Given the description of an element on the screen output the (x, y) to click on. 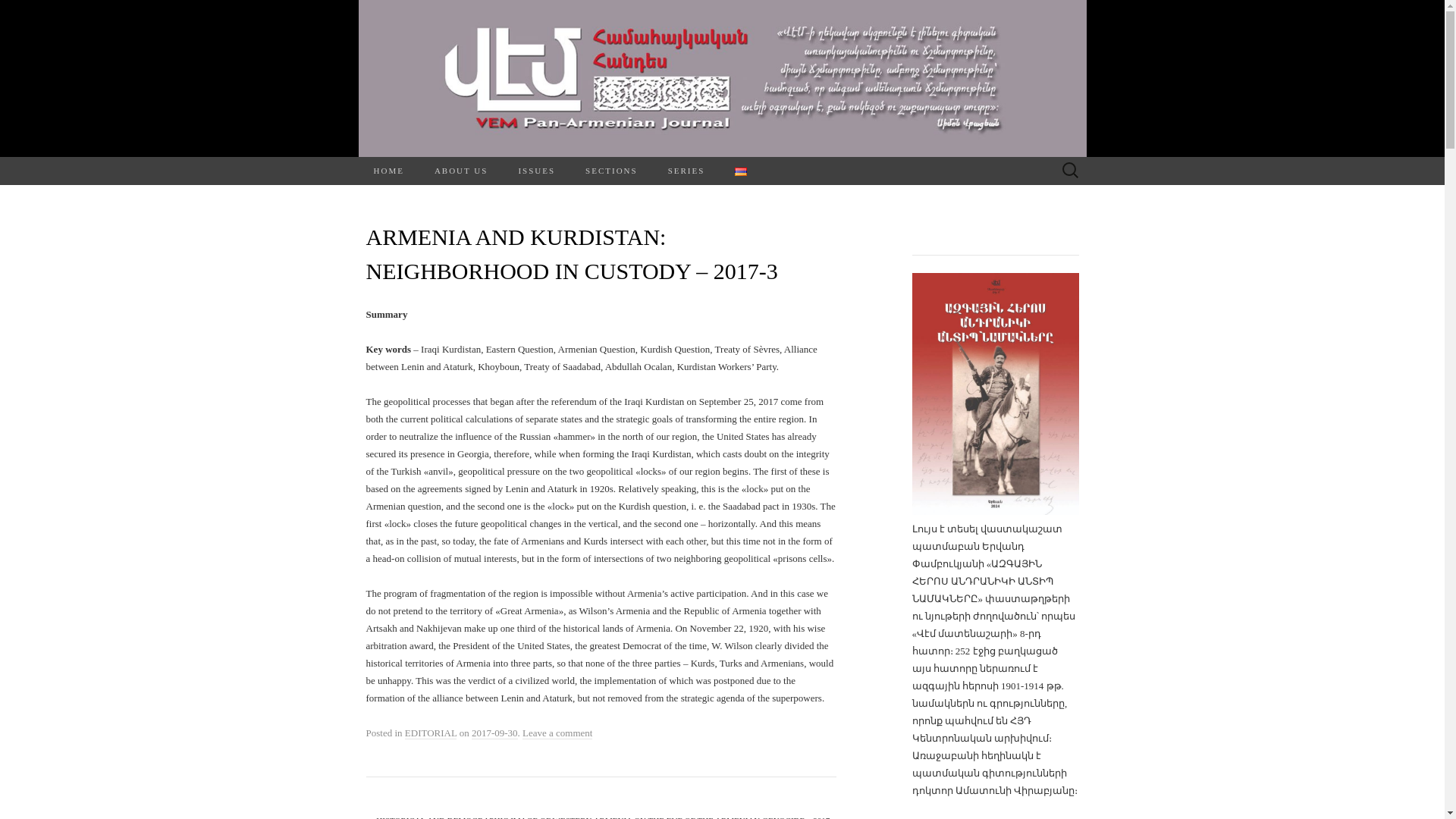
08:17 (494, 733)
HOME (388, 170)
ABOUT US (461, 170)
ISSUES (536, 170)
